Given the description of an element on the screen output the (x, y) to click on. 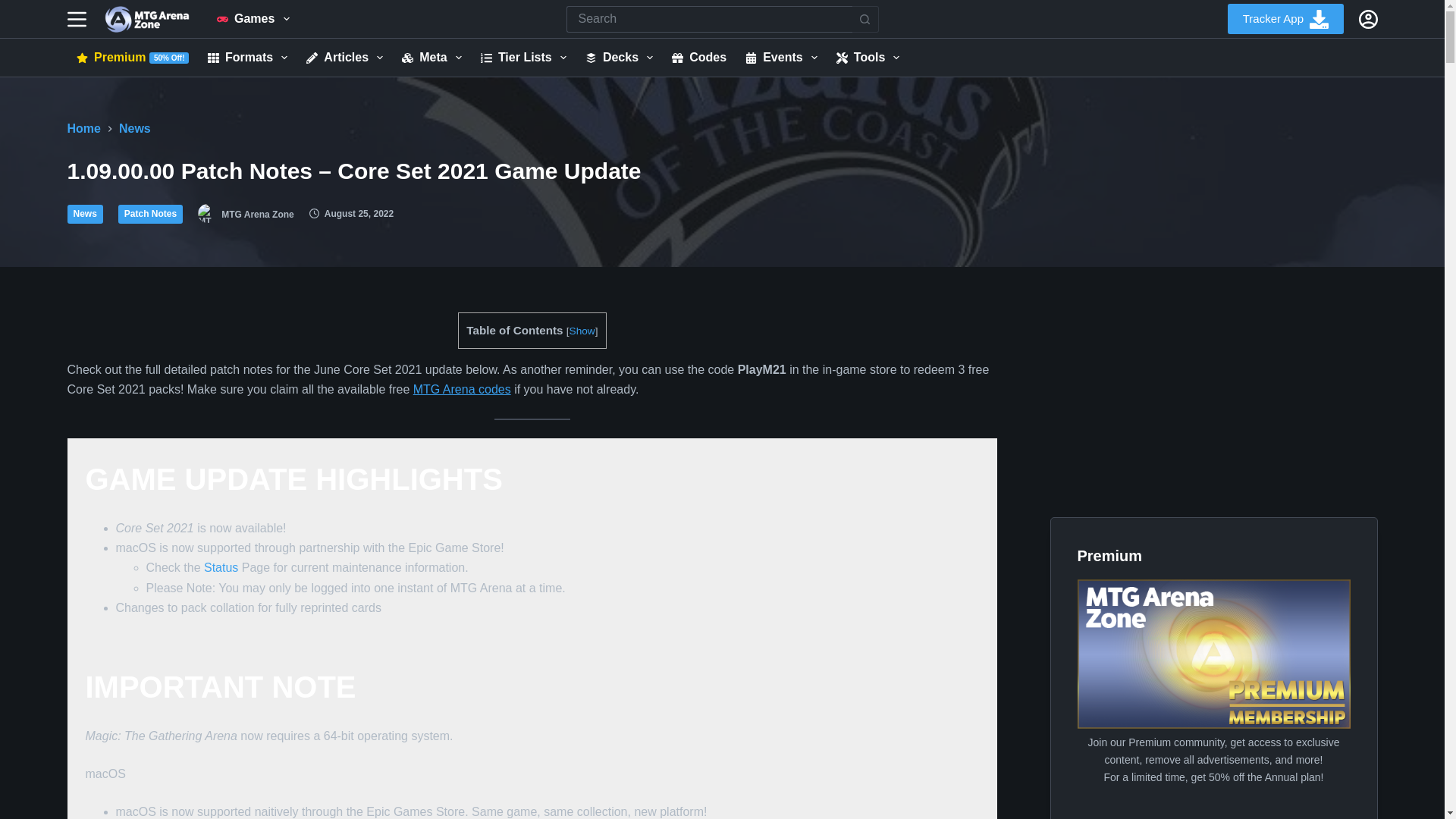
Posts by MTG Arena Zone (257, 213)
Search for... (708, 18)
Skip to content (15, 7)
